Given the description of an element on the screen output the (x, y) to click on. 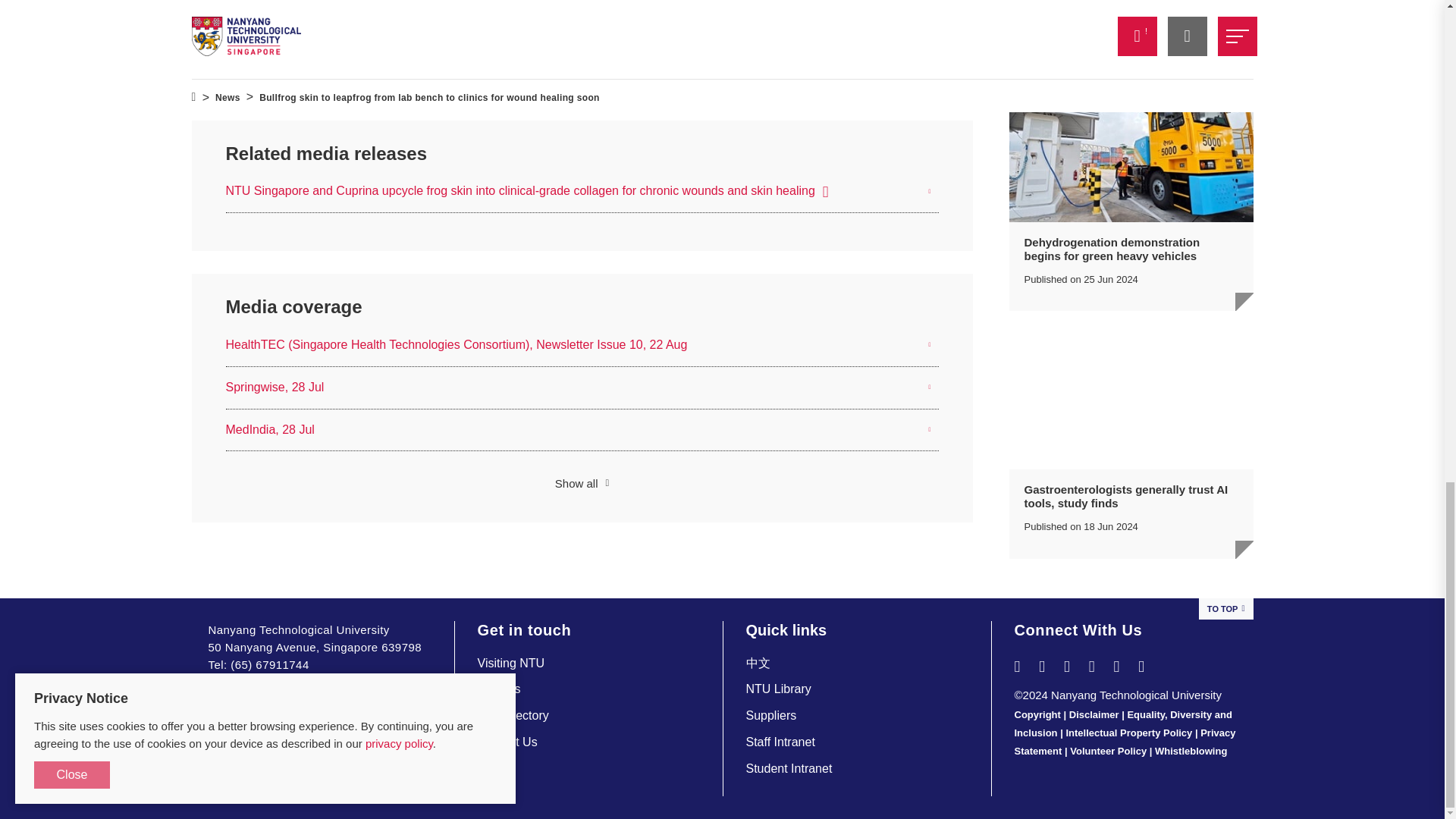
TO TOP (1225, 608)
